Given the description of an element on the screen output the (x, y) to click on. 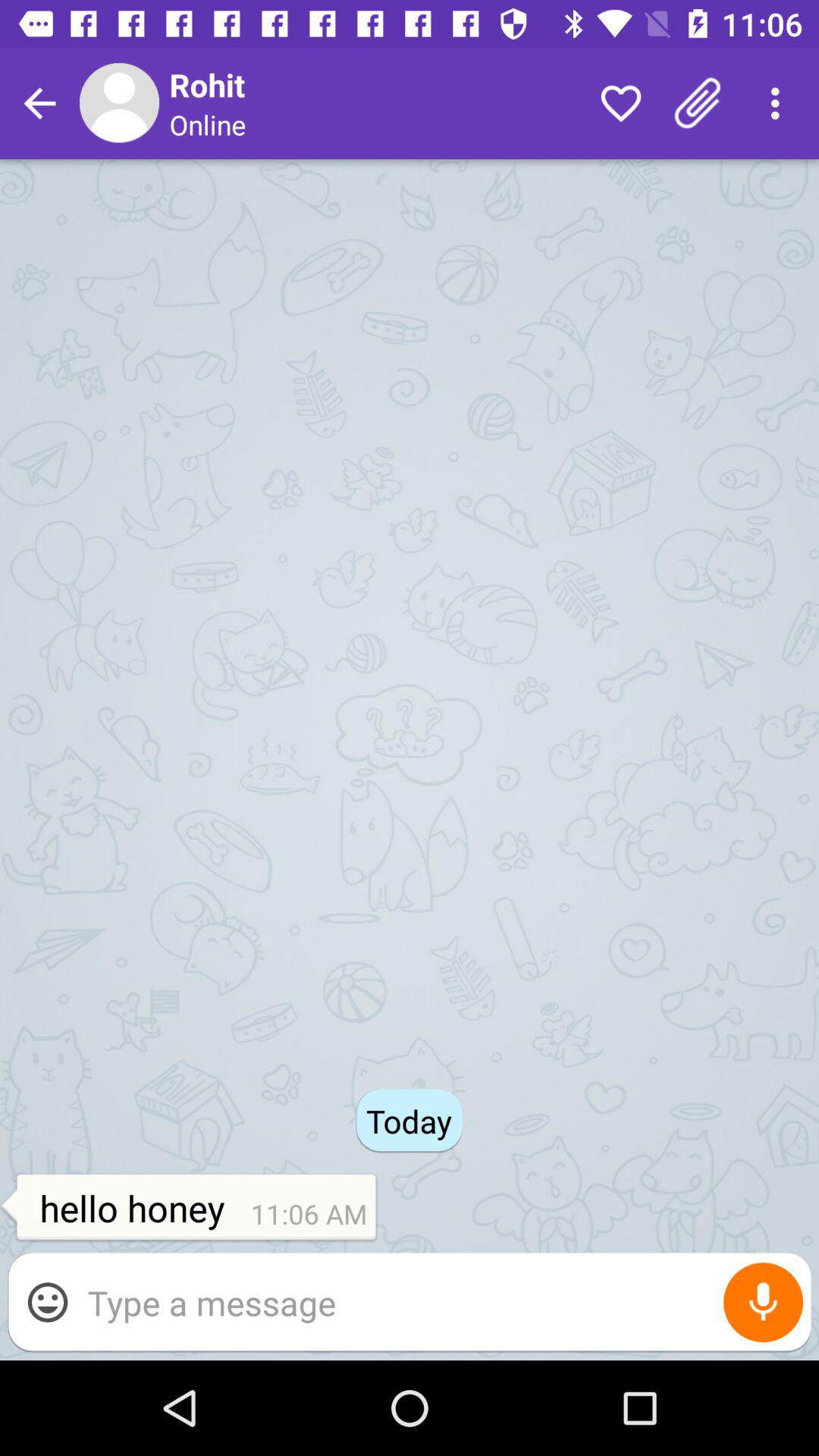
return to previous (39, 103)
